Given the description of an element on the screen output the (x, y) to click on. 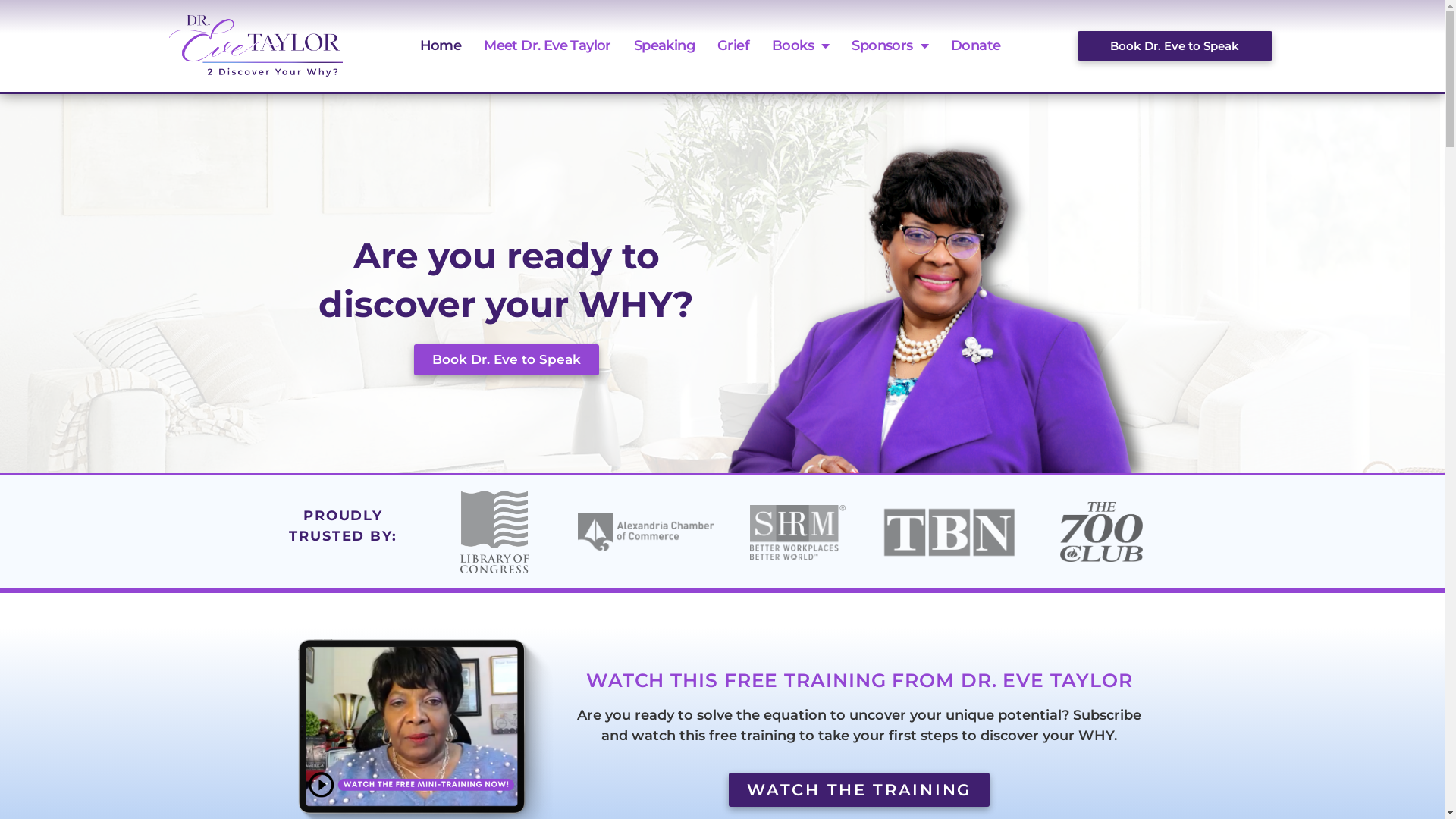
Meet Dr. Eve Taylor Element type: text (547, 45)
Books Element type: text (800, 45)
Book Dr. Eve to Speak Element type: text (1174, 45)
Home Element type: text (440, 45)
Speaking Element type: text (664, 45)
Grief Element type: text (733, 45)
Donate Element type: text (975, 45)
WATCH THE TRAINING Element type: text (858, 789)
Sponsors Element type: text (889, 45)
Book Dr. Eve to Speak Element type: text (506, 359)
